Given the description of an element on the screen output the (x, y) to click on. 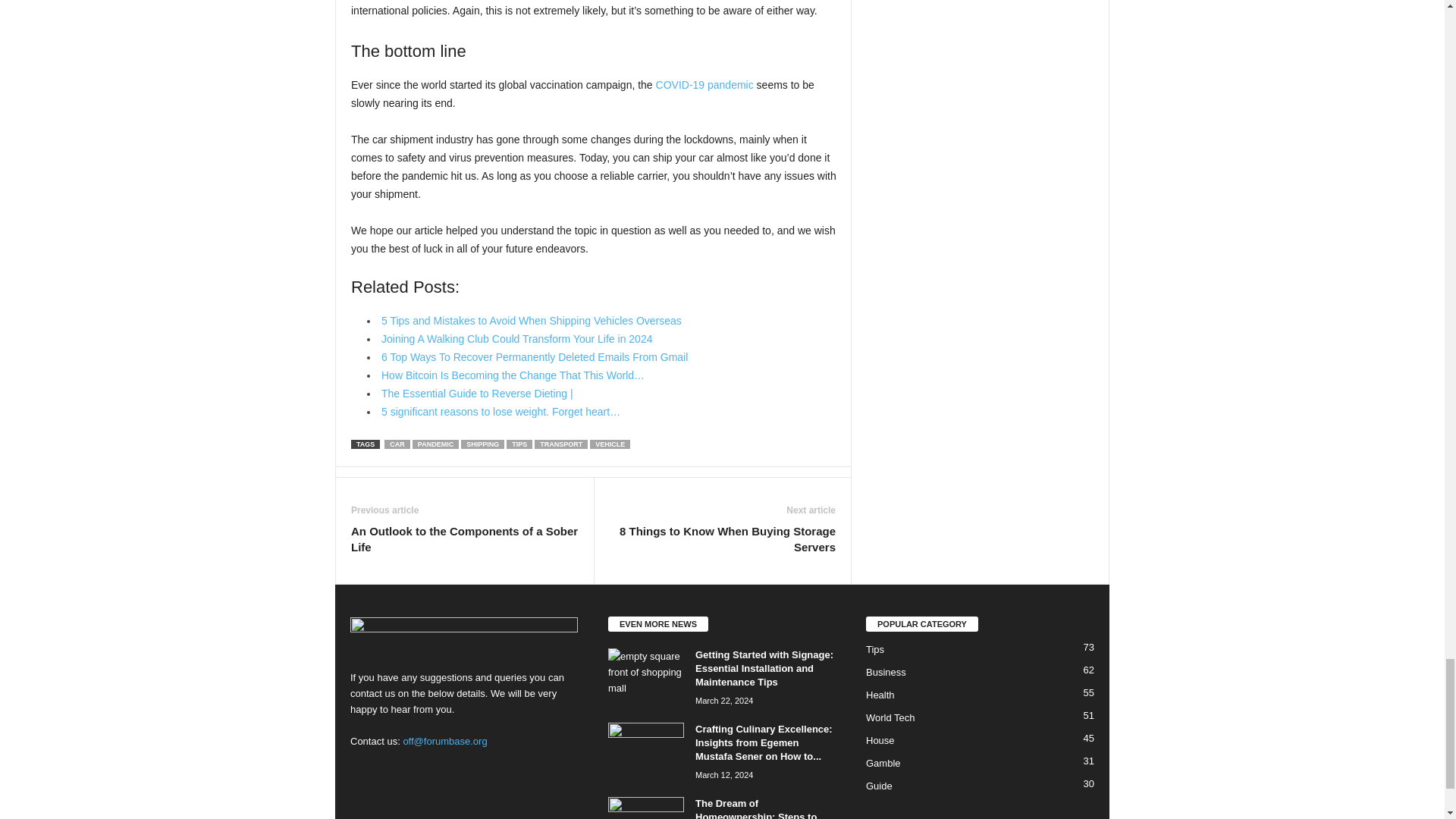
The Dream of Homeownership: Steps to Make It a Reality (646, 807)
COVID-19 pandemic (705, 84)
